Given the description of an element on the screen output the (x, y) to click on. 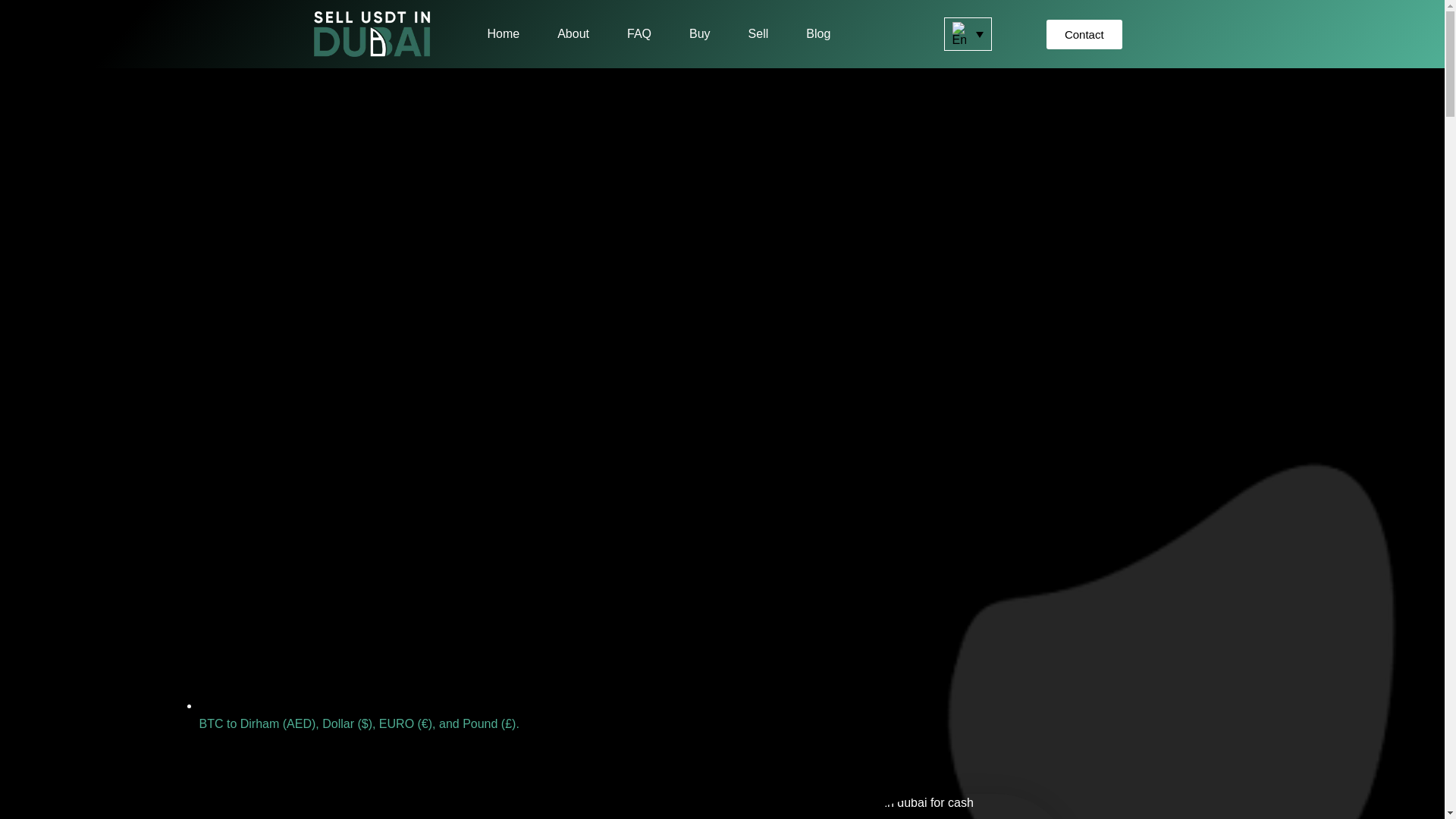
Sell Btc In Dubai For Cash (900, 806)
Blog (817, 33)
Buy (699, 33)
Contact (1084, 34)
Sell (758, 33)
FAQ (638, 33)
About (573, 33)
Home (502, 33)
